Given the description of an element on the screen output the (x, y) to click on. 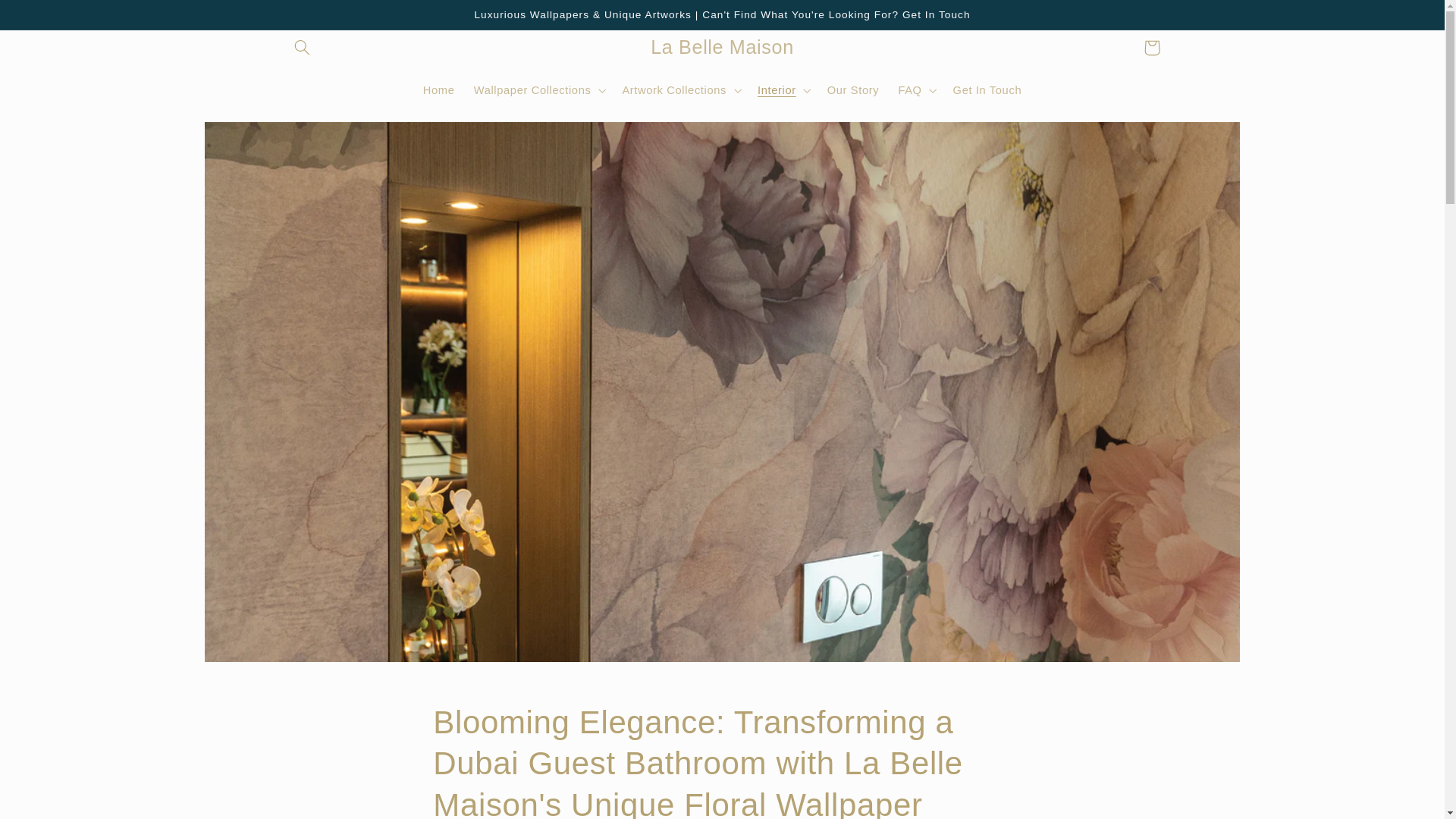
Home (438, 90)
Skip to content (48, 18)
La Belle Maison (722, 47)
